Given the description of an element on the screen output the (x, y) to click on. 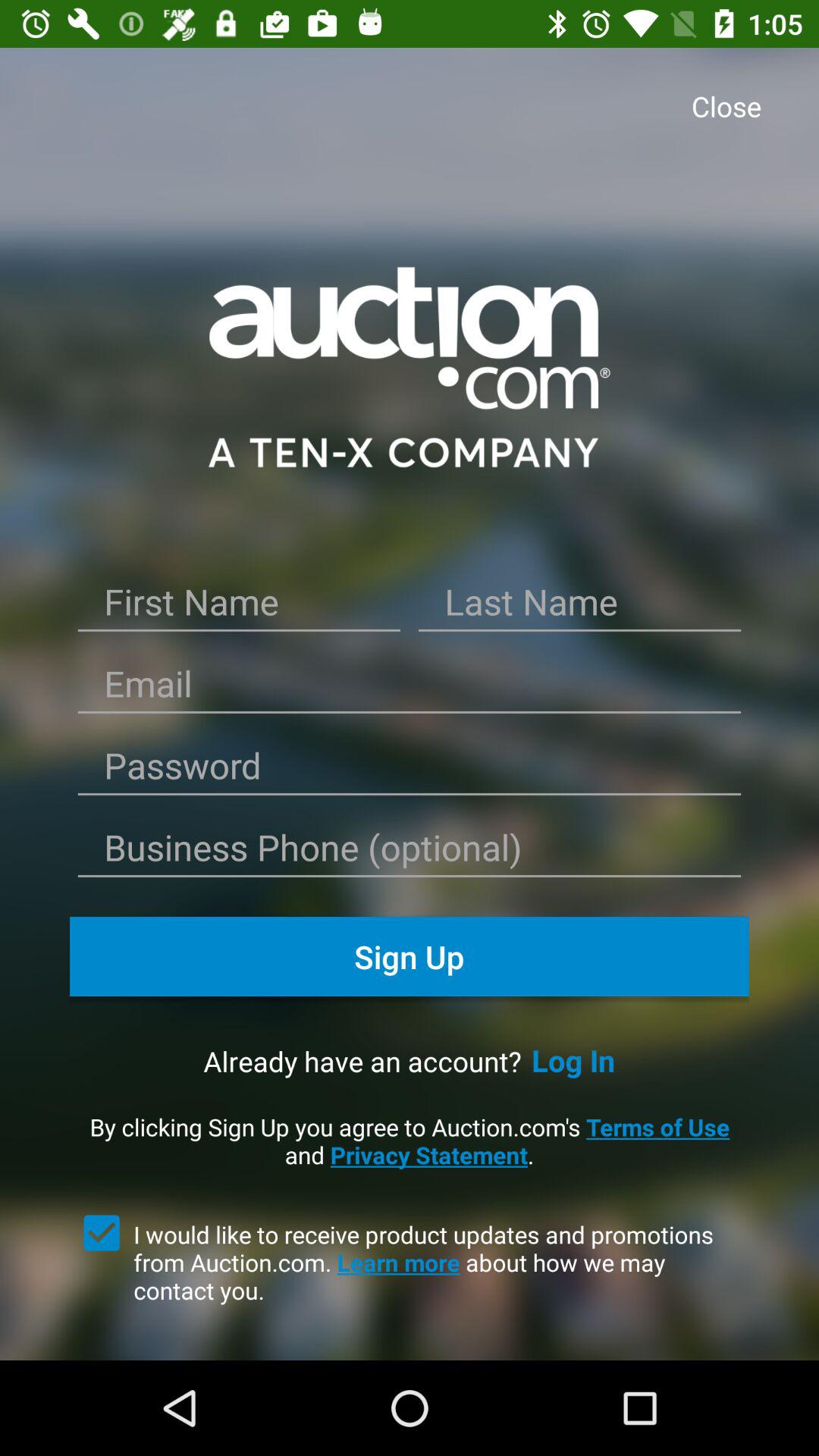
press item below the by clicking sign (441, 1262)
